Given the description of an element on the screen output the (x, y) to click on. 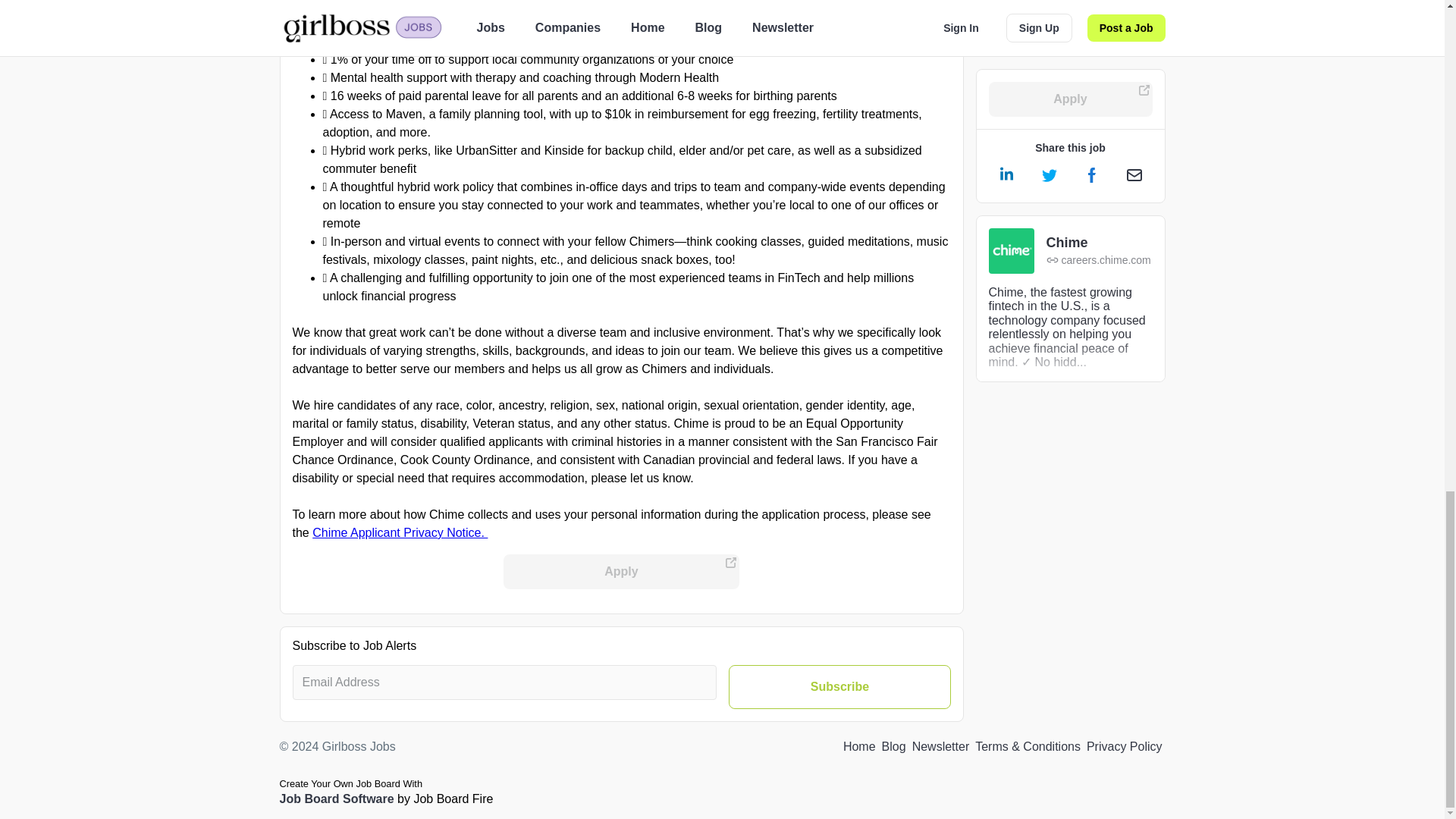
Job Board Software (336, 798)
Chime Applicant Privacy Notice.  (400, 532)
Blog (893, 746)
Privacy Policy (1124, 746)
Newsletter (940, 746)
Home (859, 746)
Subscribe (839, 687)
Job Board Software (336, 798)
Apply (621, 571)
